Given the description of an element on the screen output the (x, y) to click on. 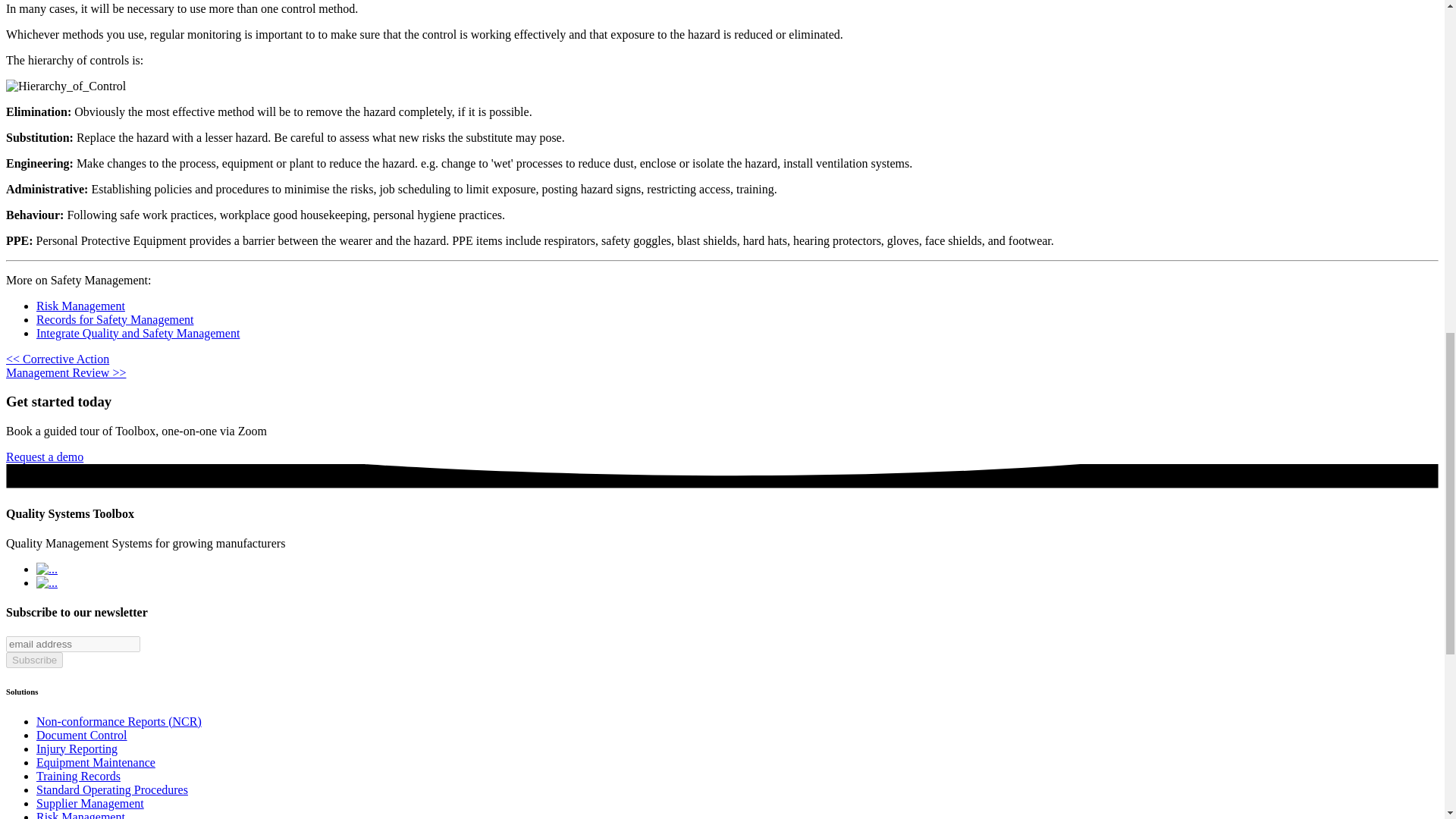
Document Control (82, 735)
Integrate Quality and Safety Management (138, 332)
Records for Safety Management (114, 318)
Risk Management (80, 305)
Injury Reporting (76, 748)
Request a demo (43, 456)
Subscribe (33, 659)
Subscribe (33, 659)
